Given the description of an element on the screen output the (x, y) to click on. 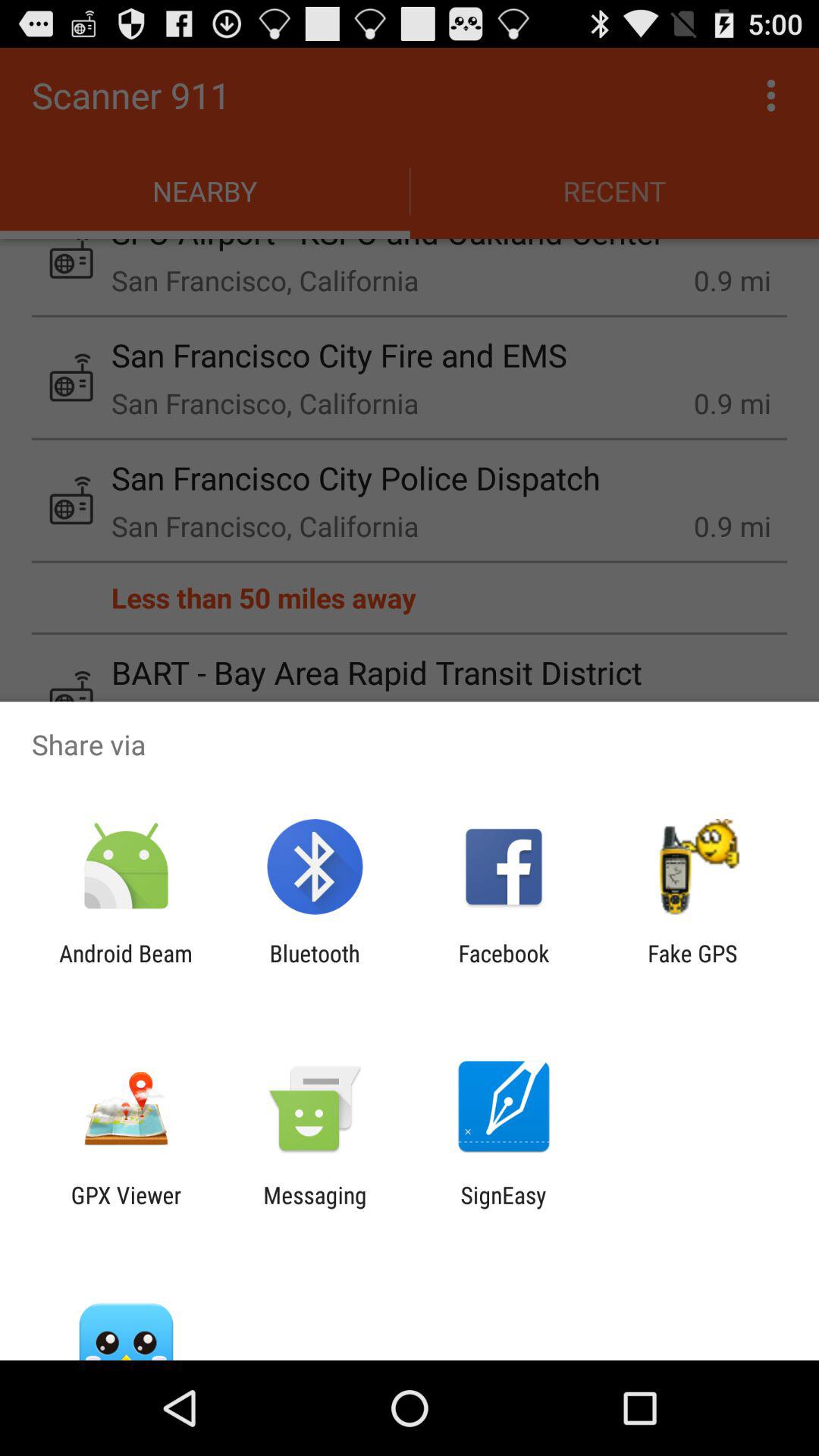
select the icon to the left of the signeasy icon (314, 1208)
